Given the description of an element on the screen output the (x, y) to click on. 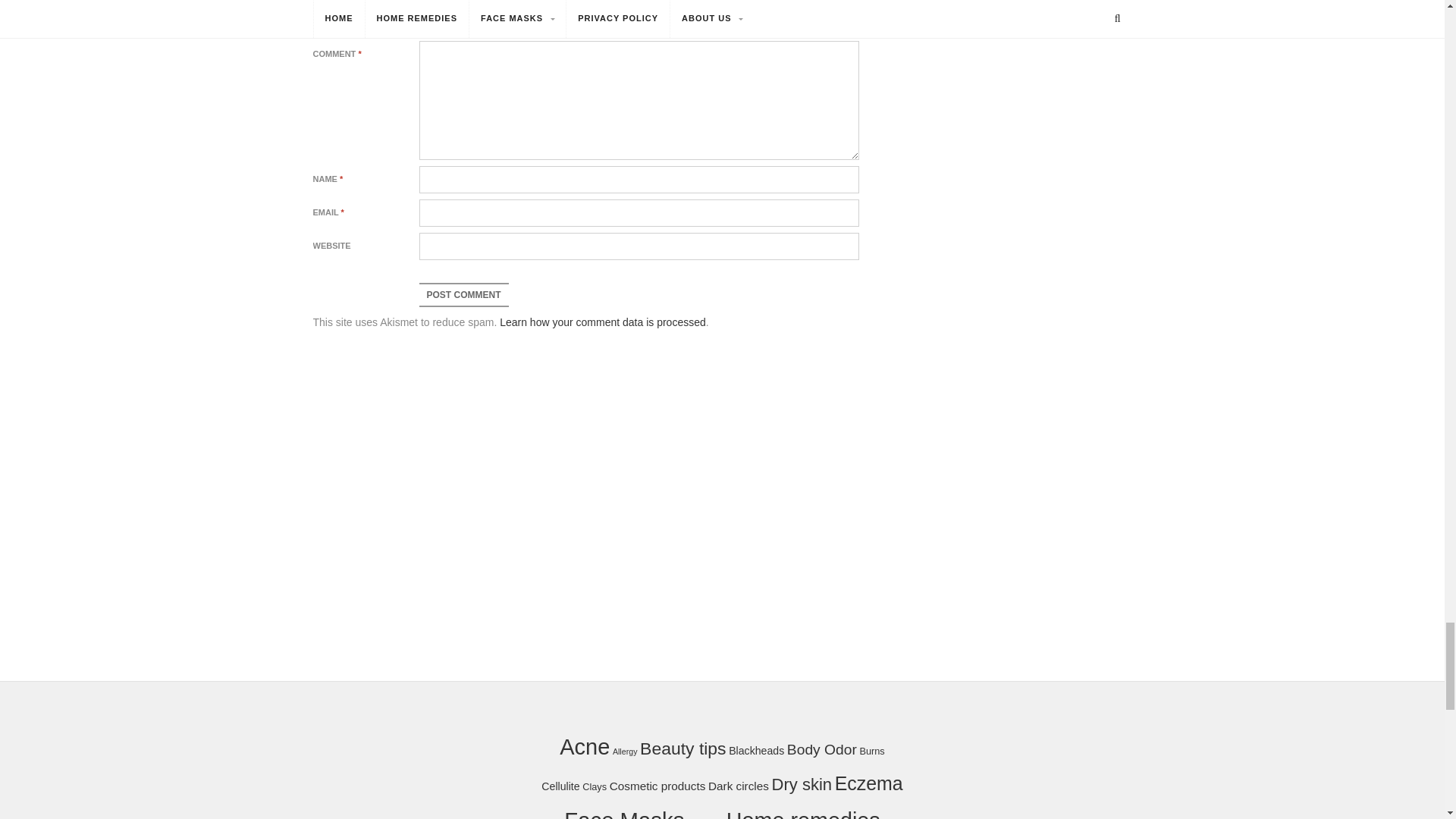
Post Comment (463, 294)
Post Comment (463, 294)
